Given the description of an element on the screen output the (x, y) to click on. 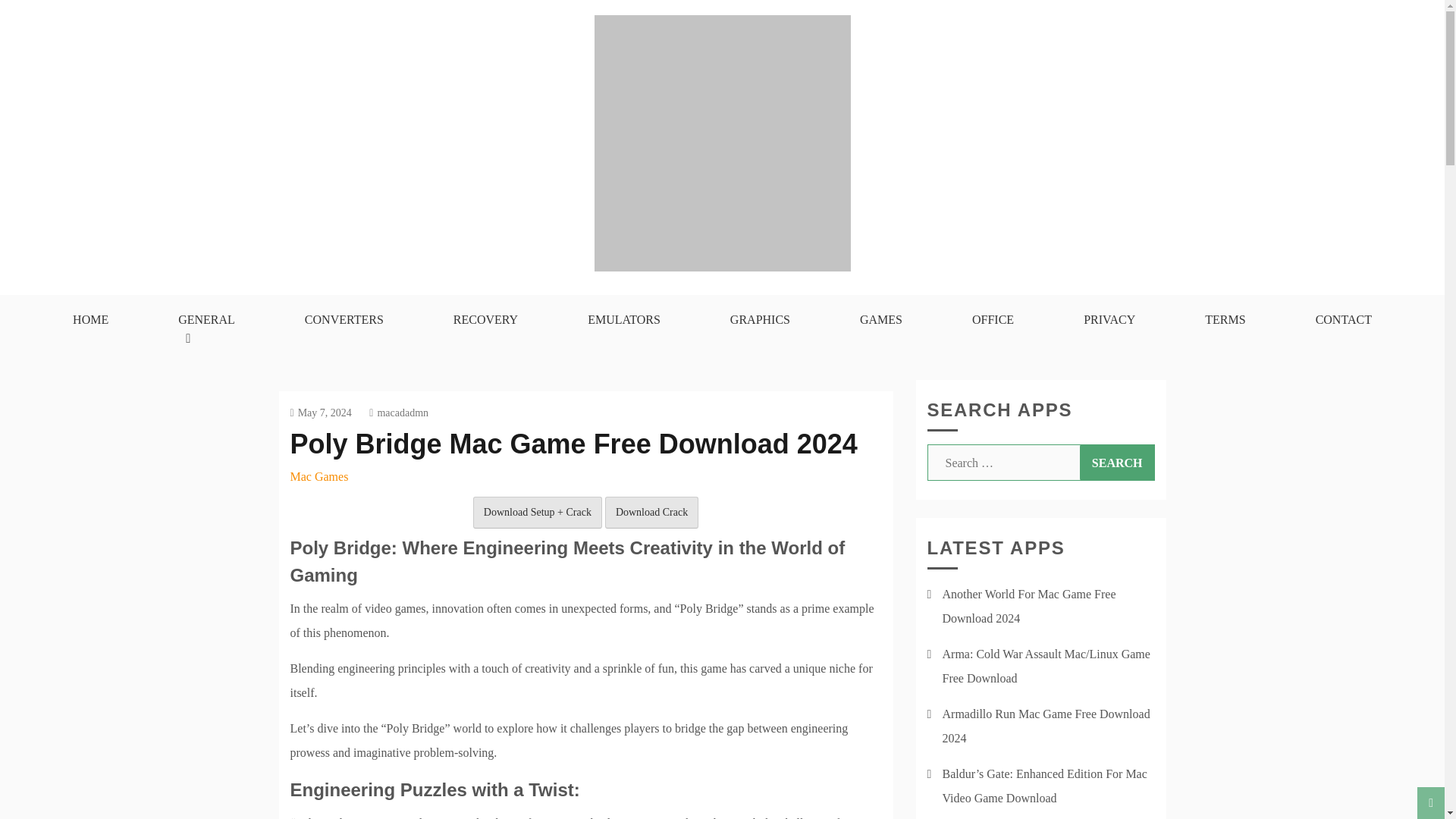
Search (1117, 462)
OFFICE (992, 319)
GAMES (880, 319)
Search (1117, 462)
GRAPHICS (759, 319)
CONVERTERS (344, 319)
PRIVACY (1109, 319)
RECOVERY (485, 319)
EMULATORS (623, 319)
May 7, 2024 (319, 411)
HOME (90, 319)
Download Crack (651, 511)
Mac Games (318, 476)
GENERAL (206, 329)
TERMS (1225, 319)
